Given the description of an element on the screen output the (x, y) to click on. 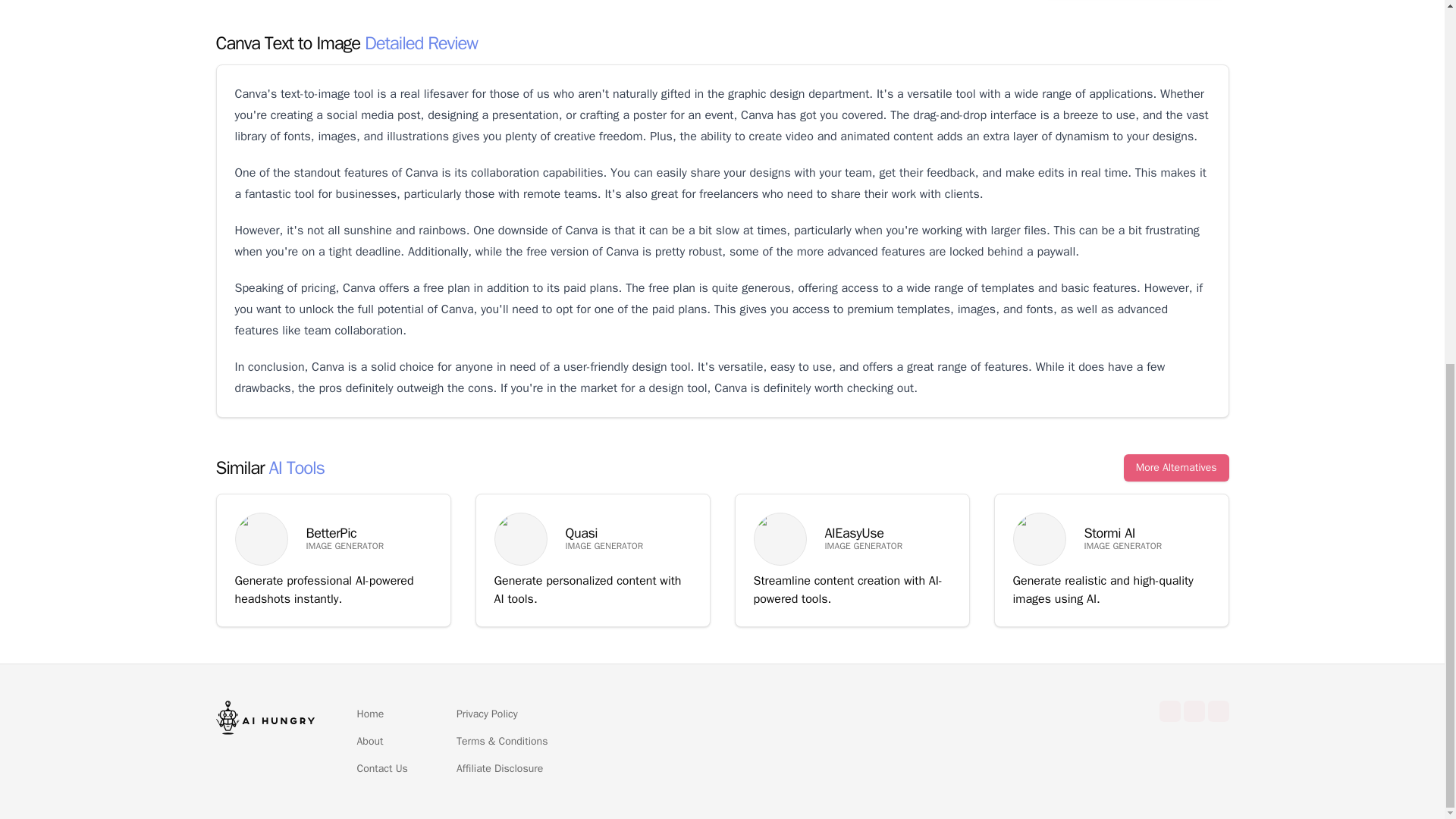
Affiliate Disclosure (498, 768)
About (369, 741)
Privacy Policy (486, 714)
More Alternatives (1176, 467)
Home (370, 714)
Contact Us (381, 768)
